Given the description of an element on the screen output the (x, y) to click on. 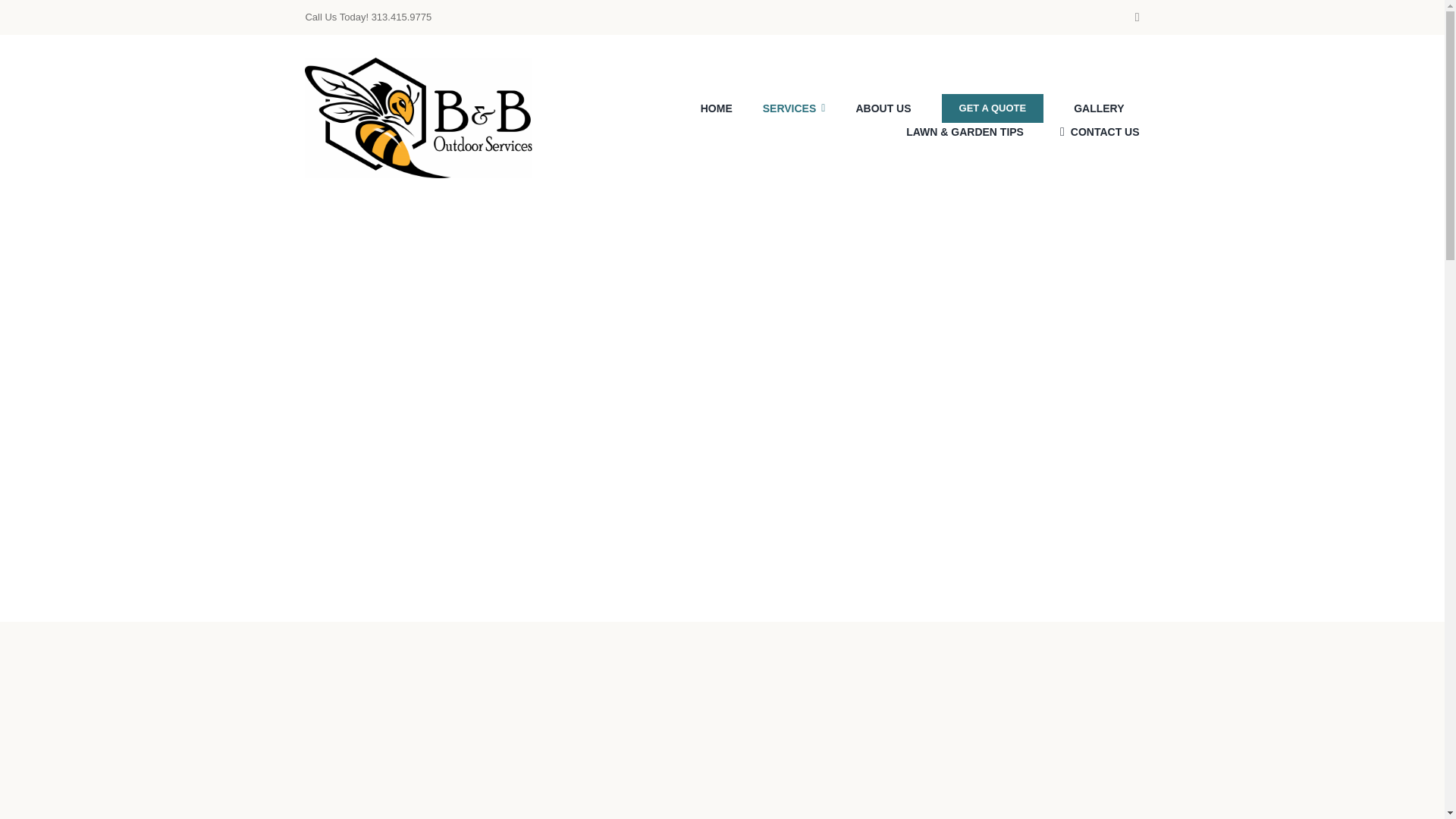
SERVICES (793, 108)
GALLERY (1099, 108)
ABOUT US (883, 108)
GET A QUOTE (992, 108)
HOME (716, 108)
CONTACT US (1097, 131)
